Given the description of an element on the screen output the (x, y) to click on. 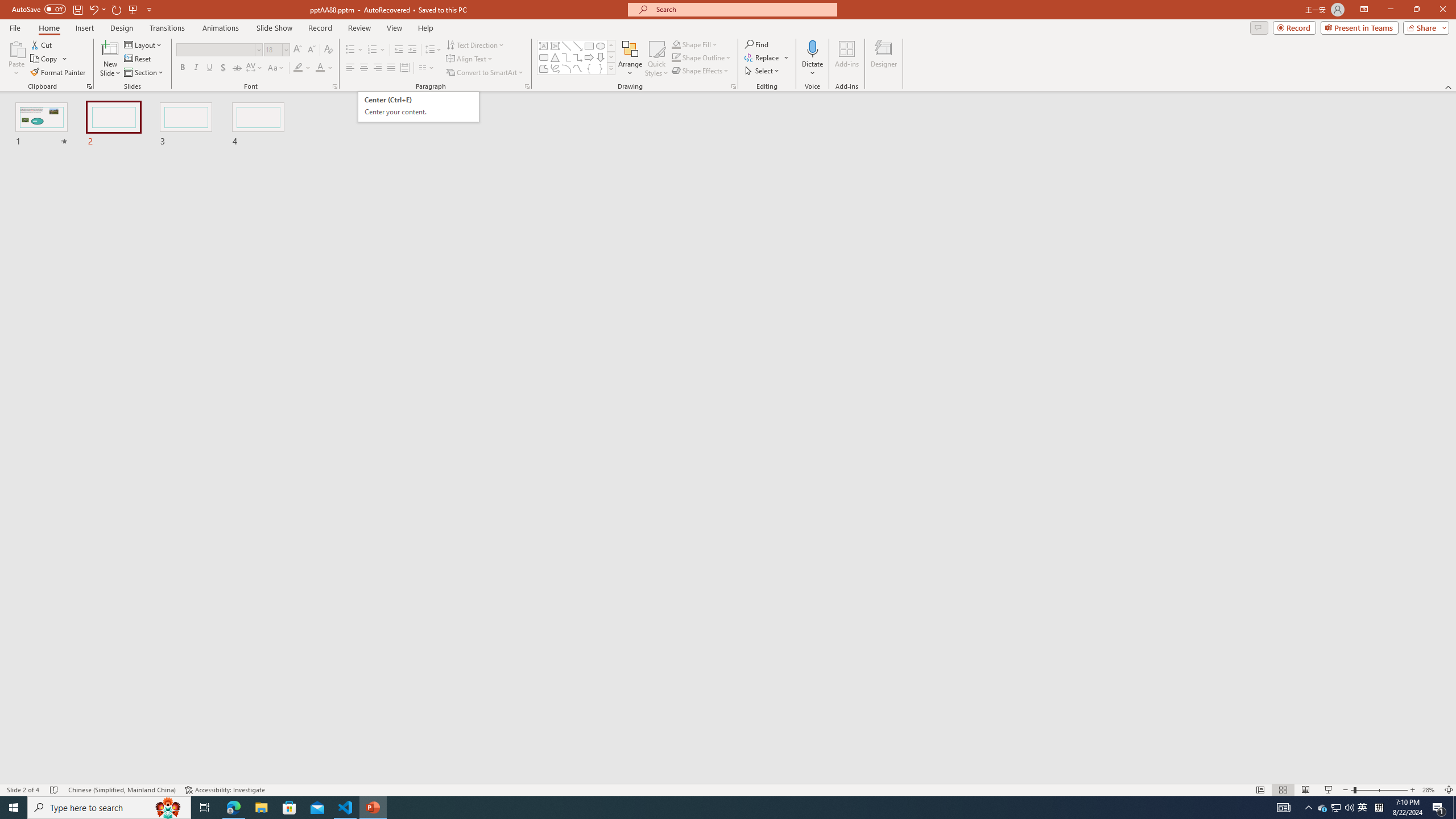
Designer (883, 58)
Font Color (324, 67)
Align Right (377, 67)
Align Text (470, 58)
Line Arrow (577, 45)
Font Color Red (320, 67)
Shape Fill (694, 44)
Copy (45, 58)
Font... (334, 85)
Decrease Font Size (310, 49)
Decrease Indent (398, 49)
